Given the description of an element on the screen output the (x, y) to click on. 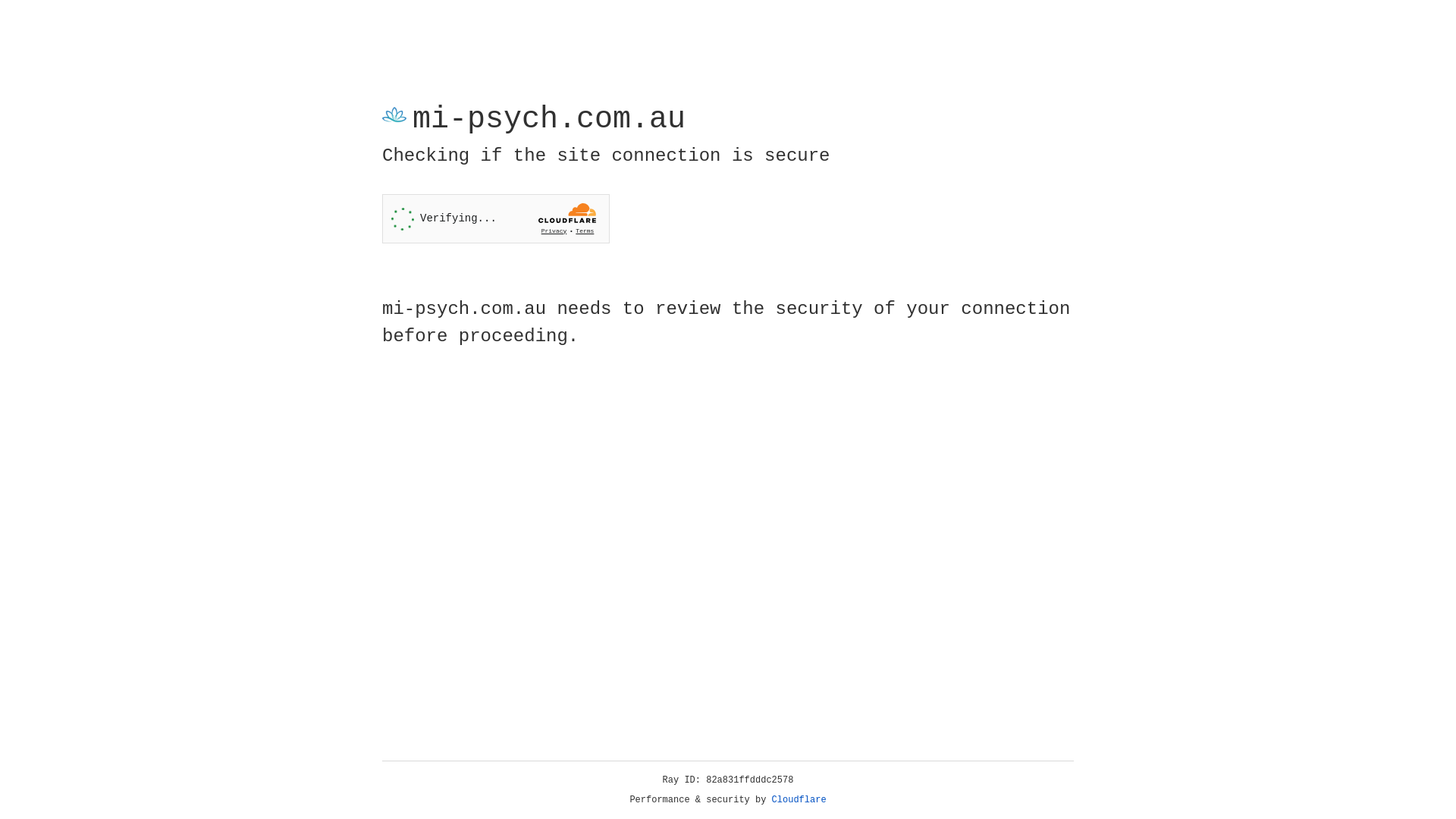
Cloudflare Element type: text (798, 799)
